Given the description of an element on the screen output the (x, y) to click on. 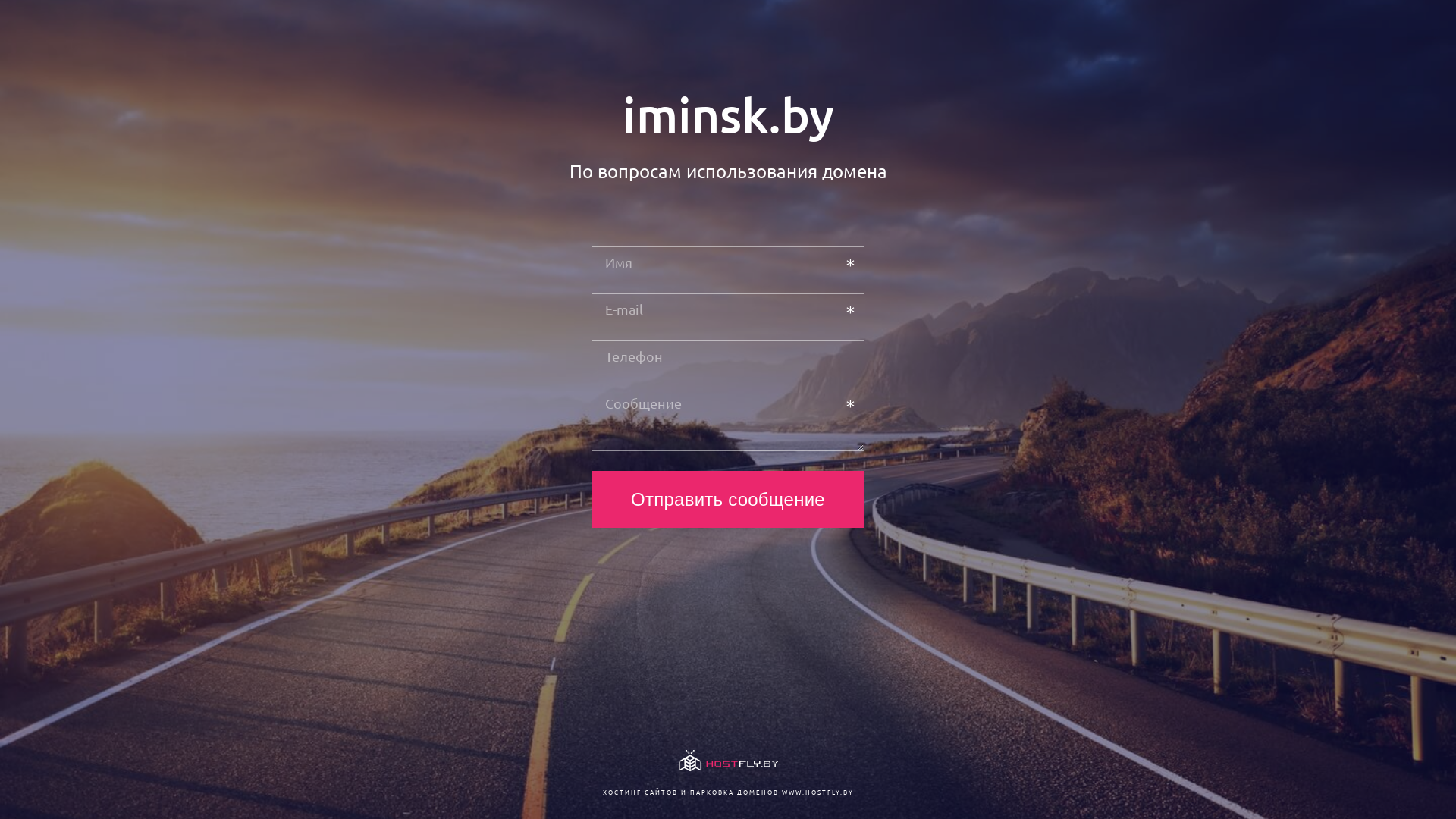
WWW.HOSTFLY.BY Element type: text (817, 791)
